Given the description of an element on the screen output the (x, y) to click on. 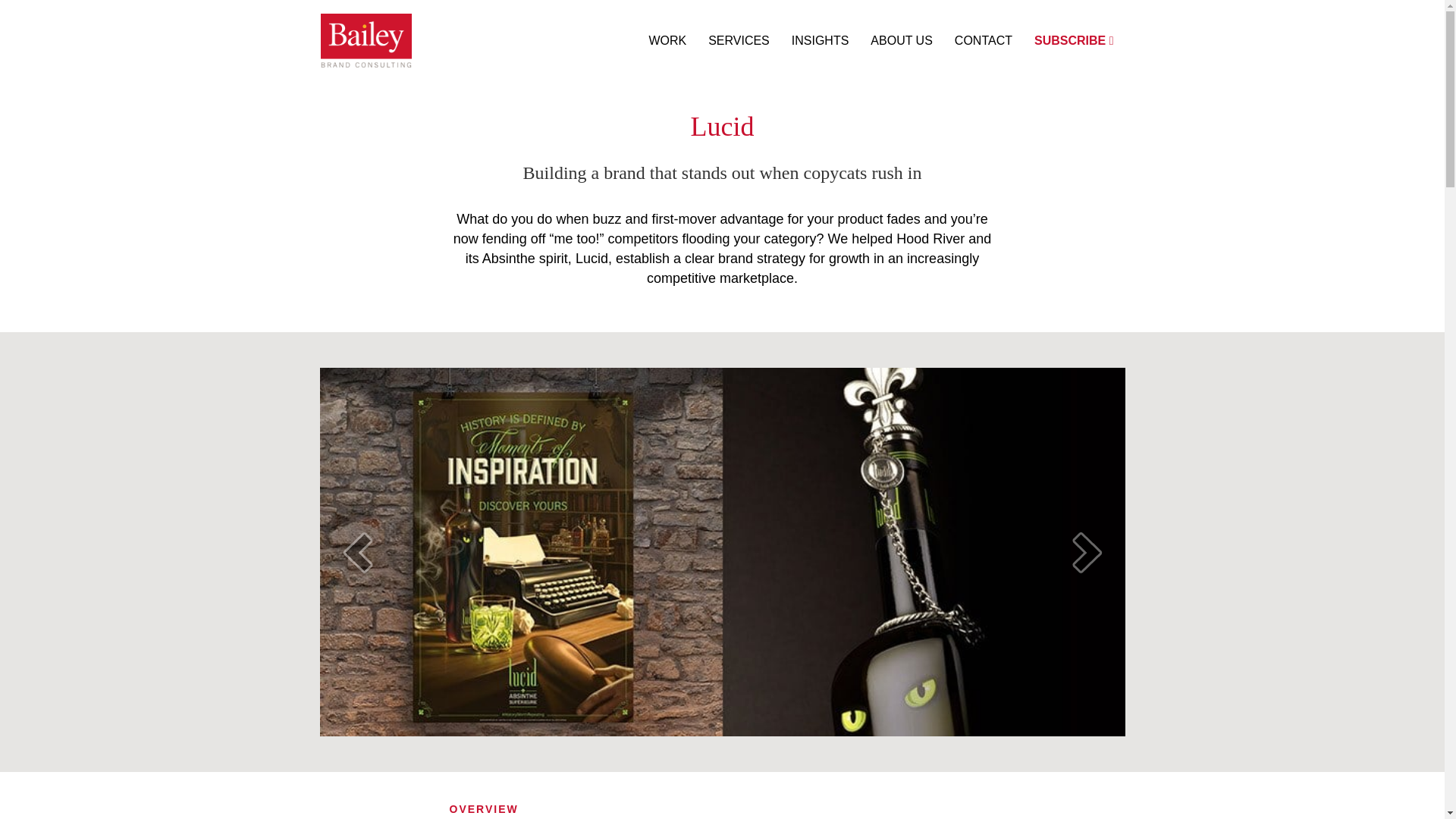
SUBSCRIBE (1073, 40)
WORK (667, 40)
SERVICES (738, 40)
ABOUT US (901, 40)
CONTACT (983, 40)
INSIGHTS (820, 40)
logo-copy (365, 40)
